Given the description of an element on the screen output the (x, y) to click on. 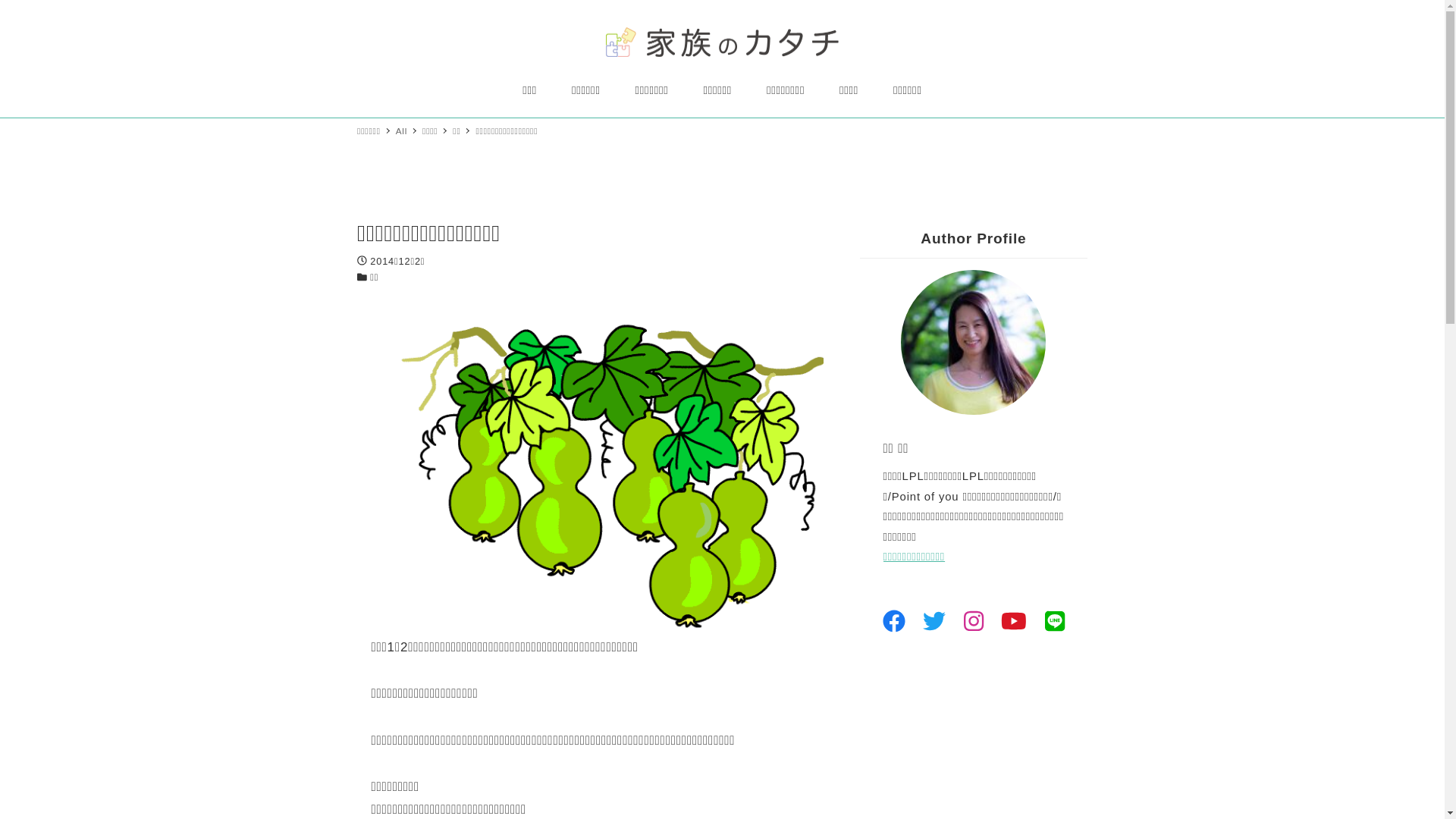
All Element type: text (403, 130)
